Given the description of an element on the screen output the (x, y) to click on. 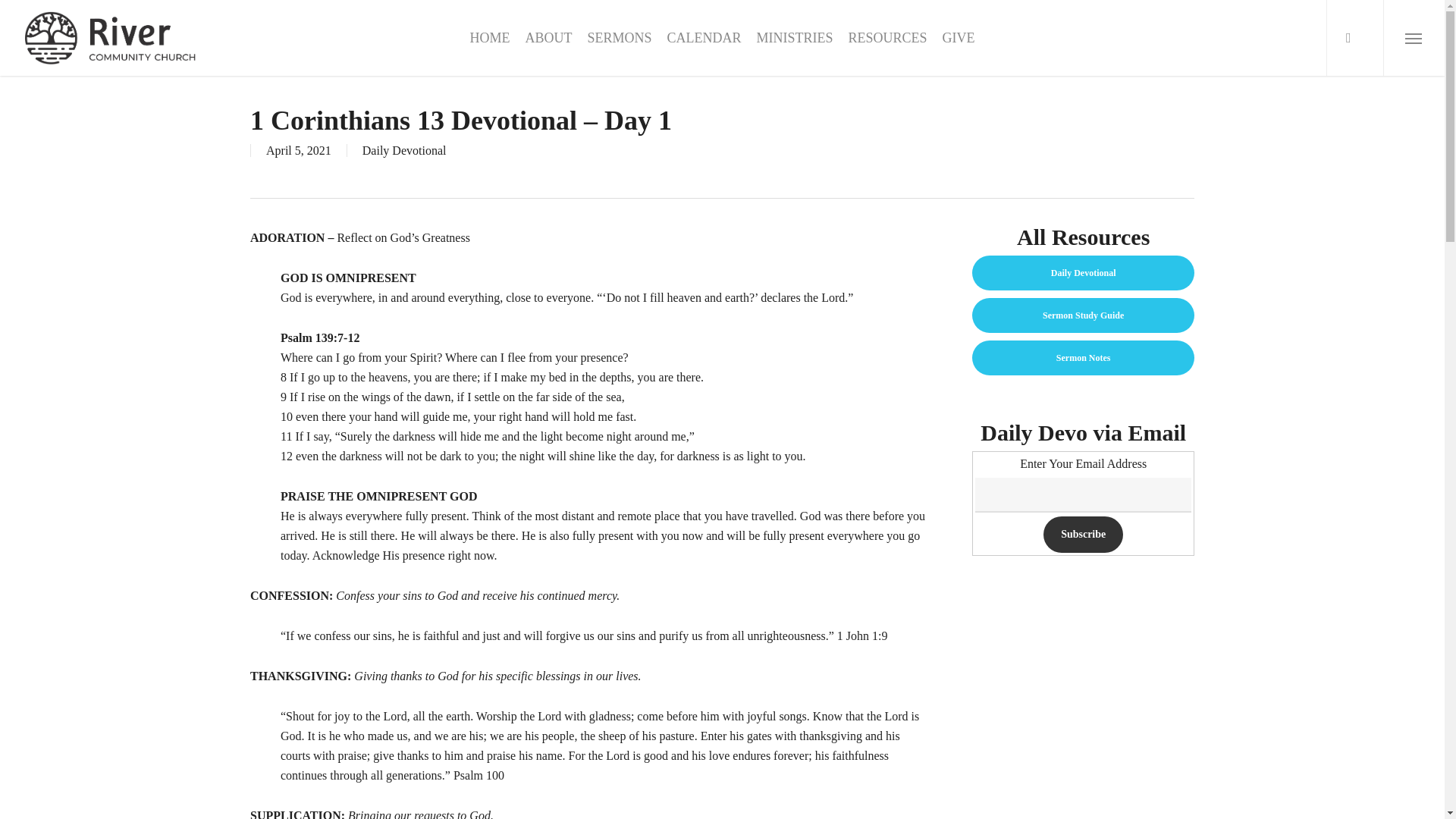
MINISTRIES (793, 38)
ABOUT (548, 38)
RESOURCES (886, 38)
Daily Devotional (404, 150)
SERMONS (618, 38)
HOME (488, 38)
Subscribe (1082, 534)
CALENDAR (703, 38)
GIVE (958, 38)
